Given the description of an element on the screen output the (x, y) to click on. 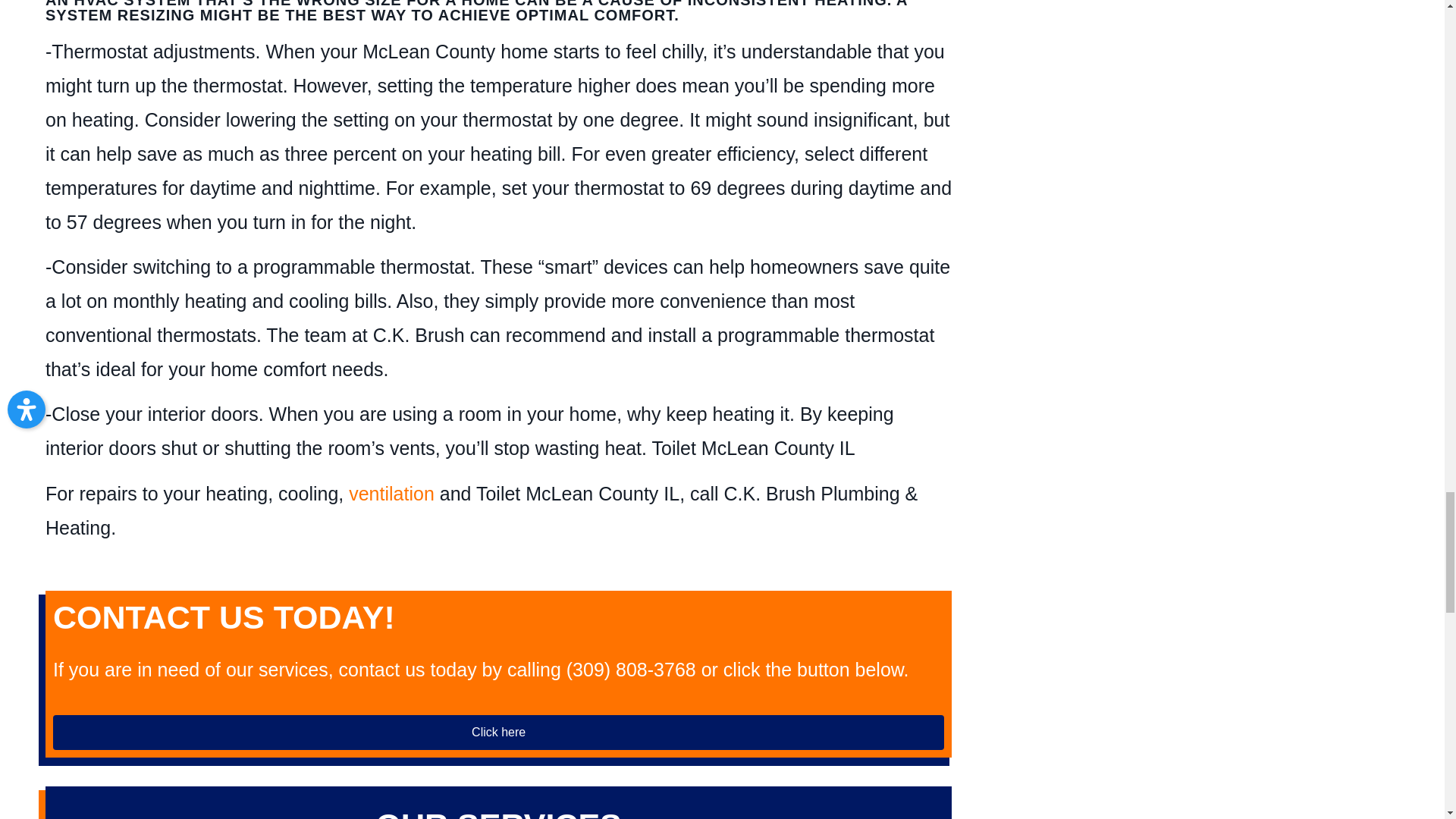
ventilation (391, 493)
Click here (497, 732)
